Given the description of an element on the screen output the (x, y) to click on. 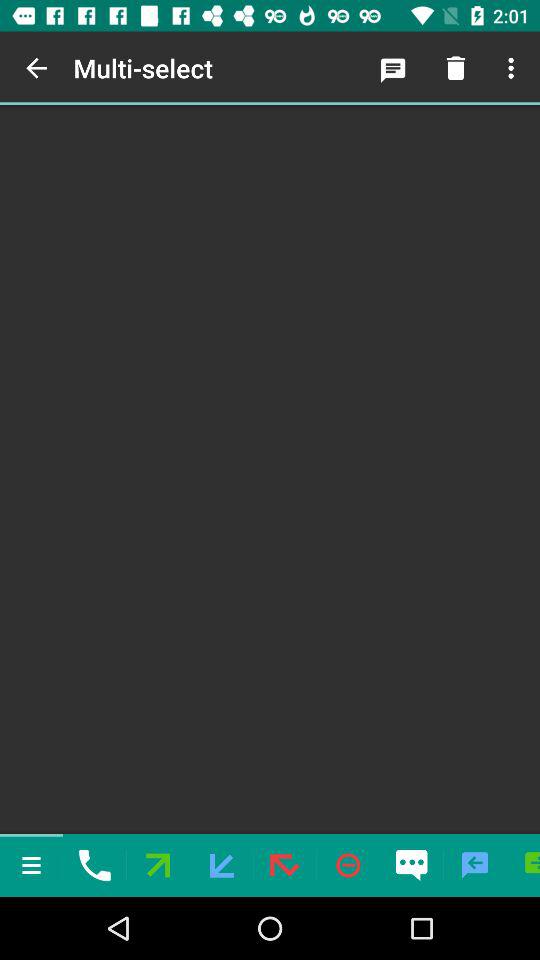
tap icon to the right of the multi-select icon (392, 67)
